Given the description of an element on the screen output the (x, y) to click on. 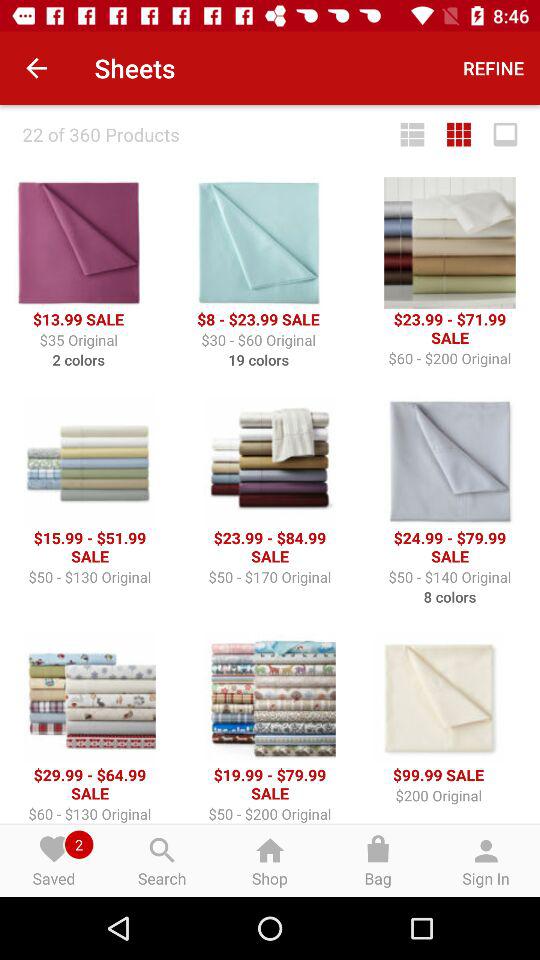
open item to the right of 22 of 360 icon (412, 134)
